Given the description of an element on the screen output the (x, y) to click on. 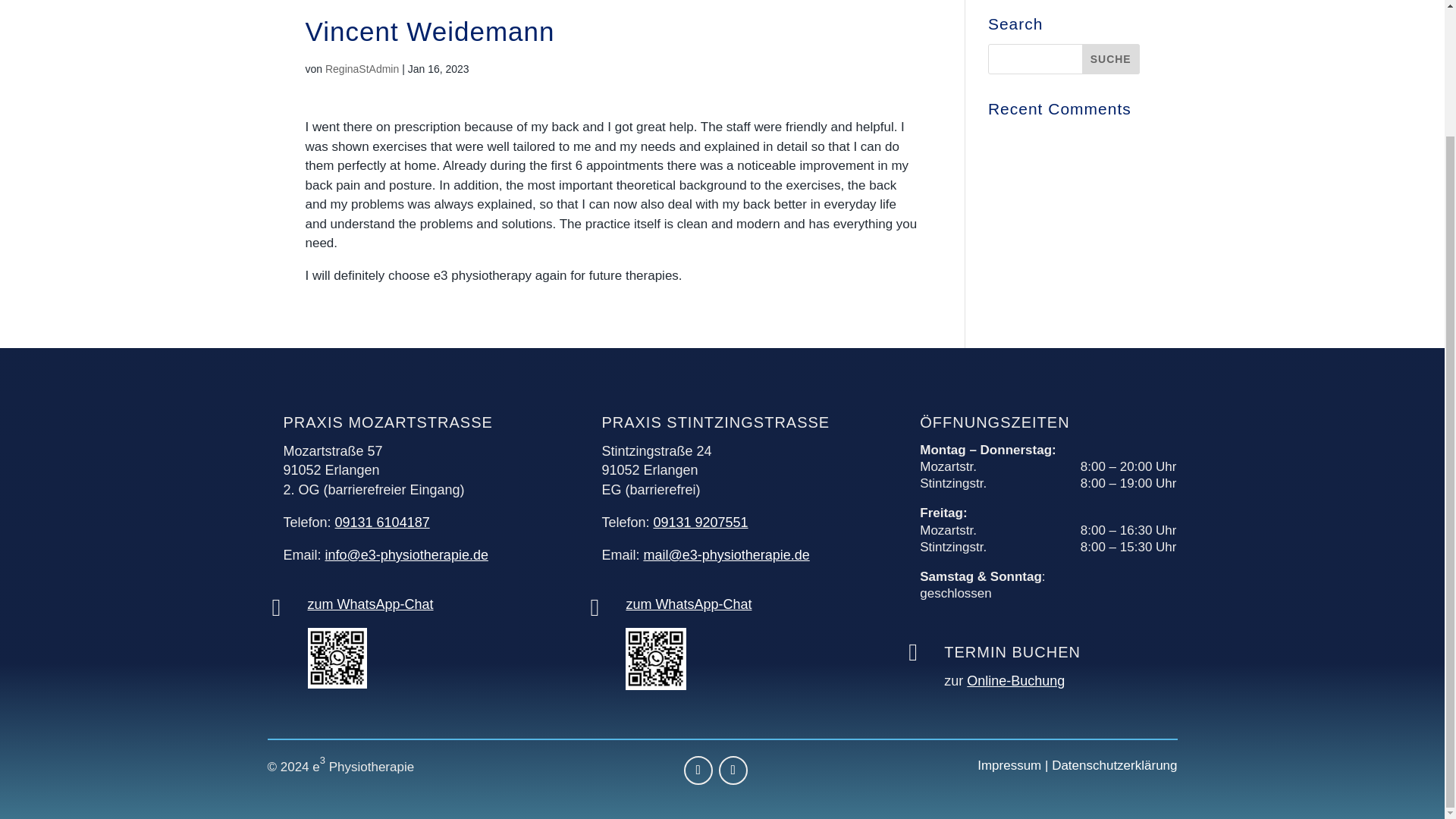
09131 6104187 (381, 522)
ReginaStAdmin (361, 69)
Impressum (1008, 765)
Folge auf Facebook (698, 769)
Suche (1110, 59)
Online-Buchung (1015, 680)
zum WhatsApp-Chat (688, 604)
Zum WhatsApp Chat (336, 683)
09131 9207551 (700, 522)
zum WhatsApp-Chat (370, 604)
Folge auf Instagram (733, 769)
Suche (1110, 59)
